Given the description of an element on the screen output the (x, y) to click on. 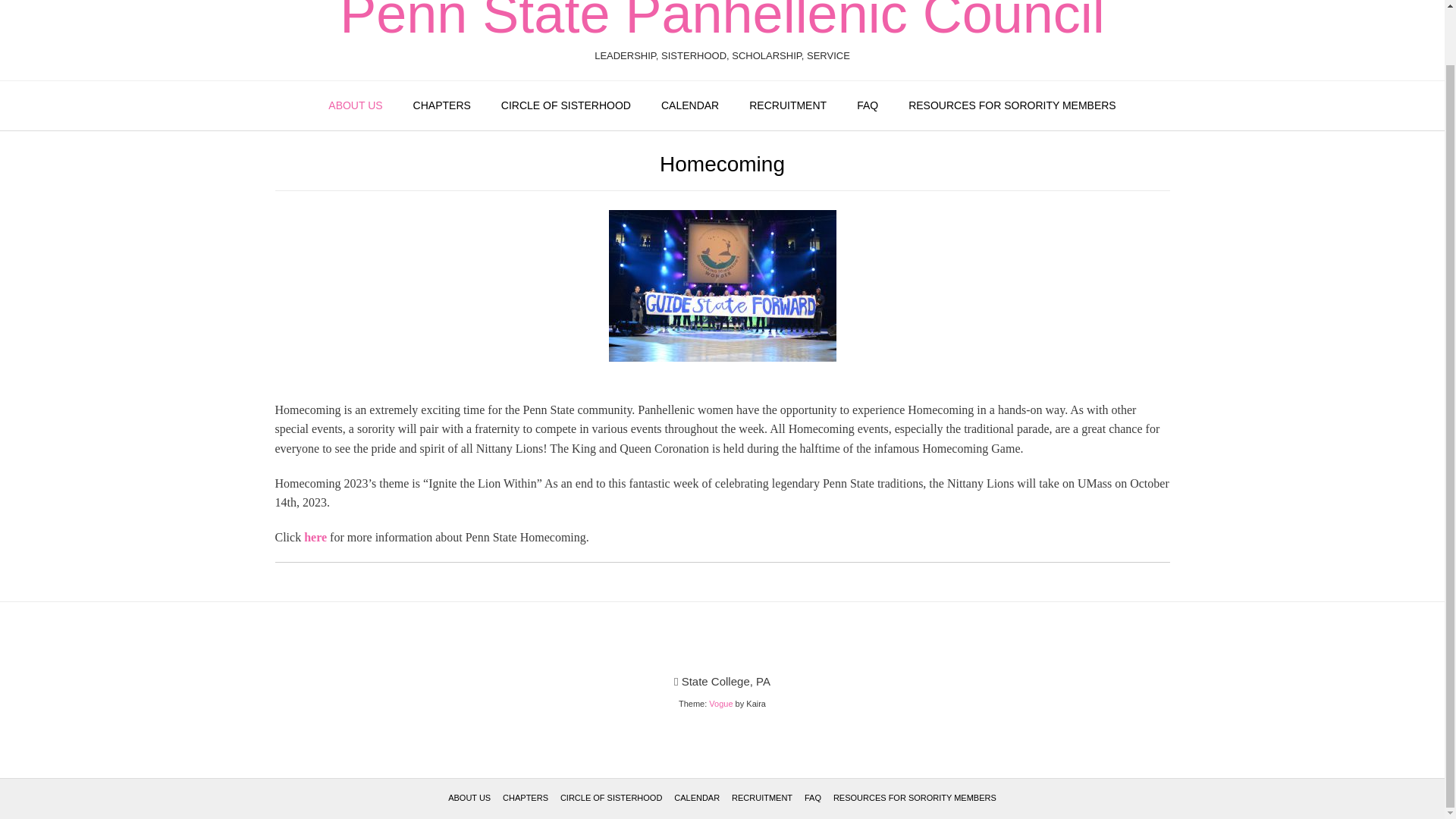
CHAPTERS (441, 106)
ABOUT US (355, 106)
RECRUITMENT (787, 106)
CALENDAR (689, 106)
Penn State Panhellenic Council (722, 20)
CIRCLE OF SISTERHOOD (566, 106)
Penn State Panhellenic Council (722, 20)
